Given the description of an element on the screen output the (x, y) to click on. 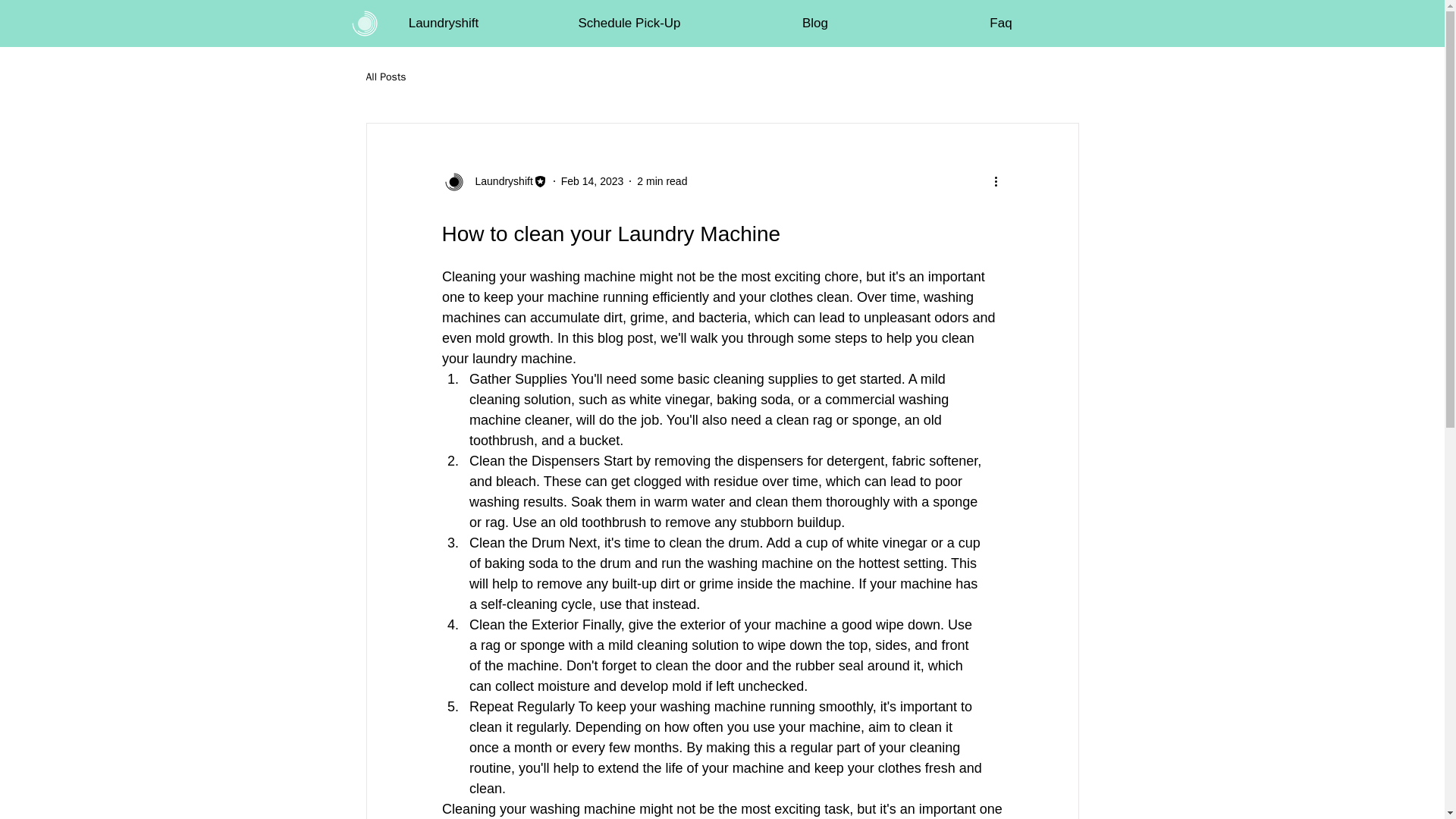
Feb 14, 2023 (592, 180)
Schedule Pick-Up (629, 23)
Blog (814, 23)
Laundryshift (442, 23)
LaundryShift White Transparent.png (364, 22)
Laundryshift (498, 180)
2 min read (662, 180)
Laundryshift (494, 180)
All Posts (385, 77)
Faq (1001, 23)
